Given the description of an element on the screen output the (x, y) to click on. 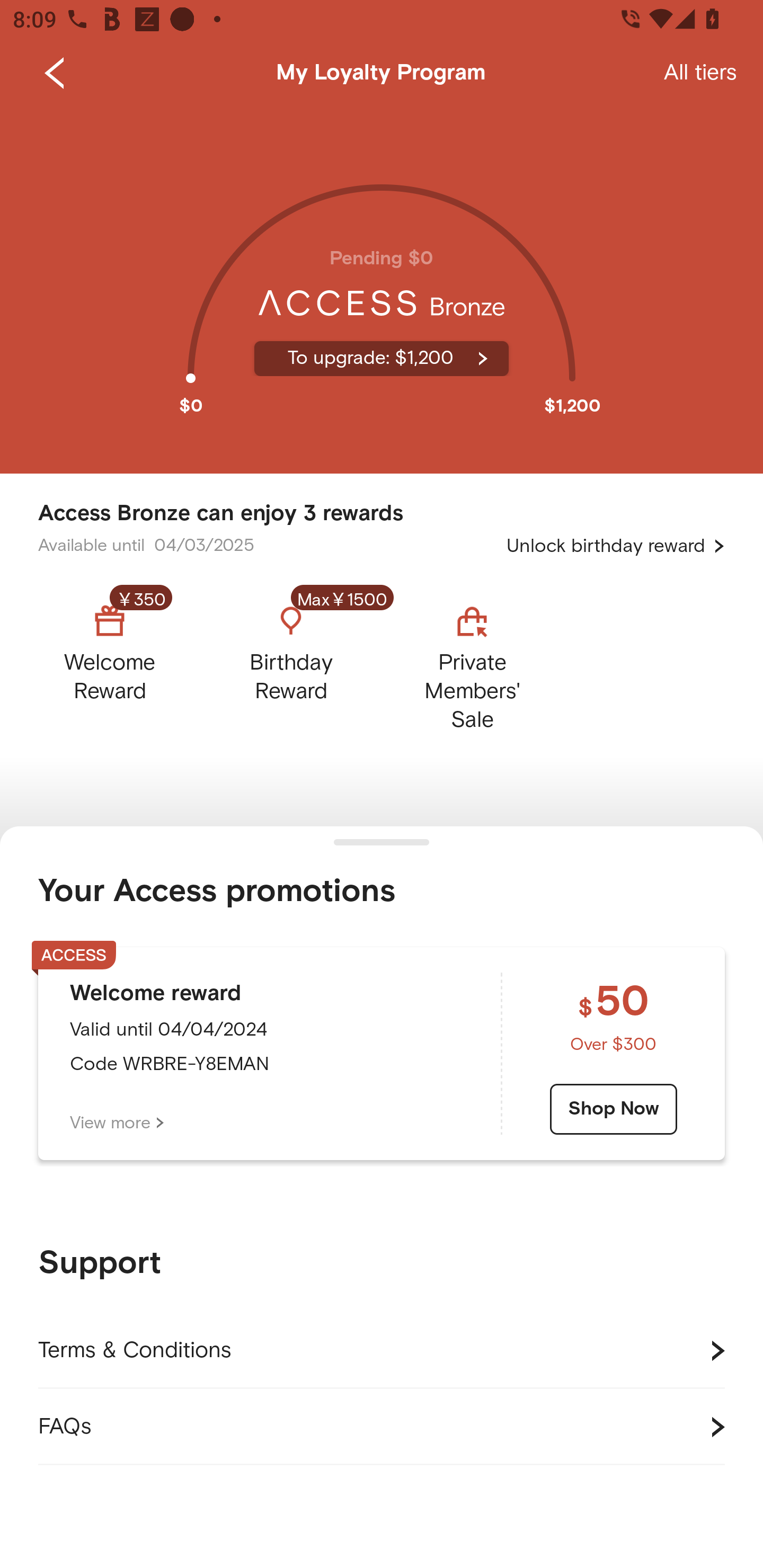
All tiers (700, 72)
Pending $0 To upgrade: $1,200 $0 $1,200 (381, 290)
Unlock birthday reward (615, 546)
￥350 Welcome Reward (125, 662)
Max￥1500 Birthday Reward (290, 662)
Private Members' Sale (471, 662)
Shop Now (613, 1109)
View more (117, 1123)
Terms & Conditions (381, 1350)
FAQs (381, 1426)
